Given the description of an element on the screen output the (x, y) to click on. 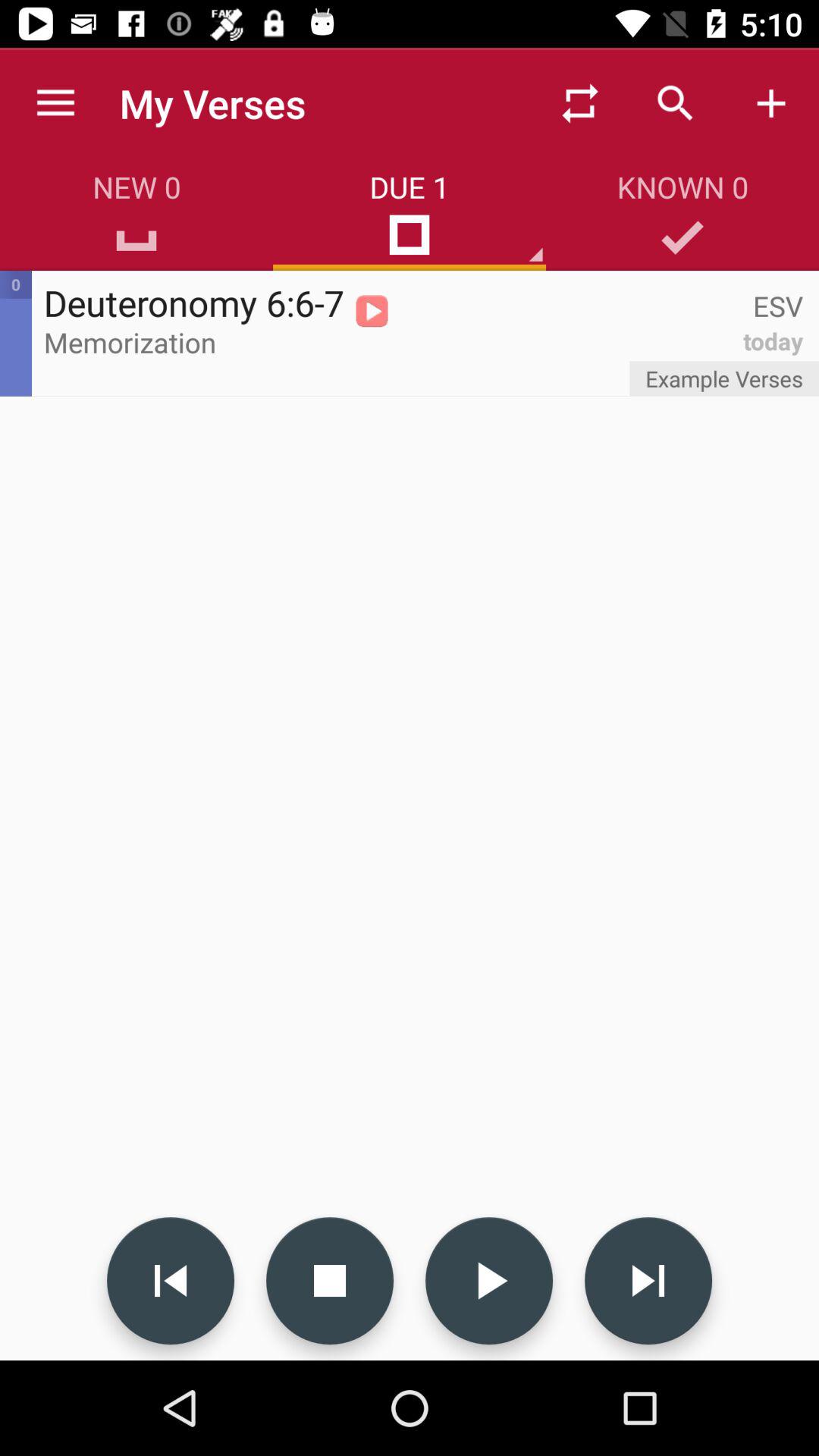
stop the music (329, 1280)
